Given the description of an element on the screen output the (x, y) to click on. 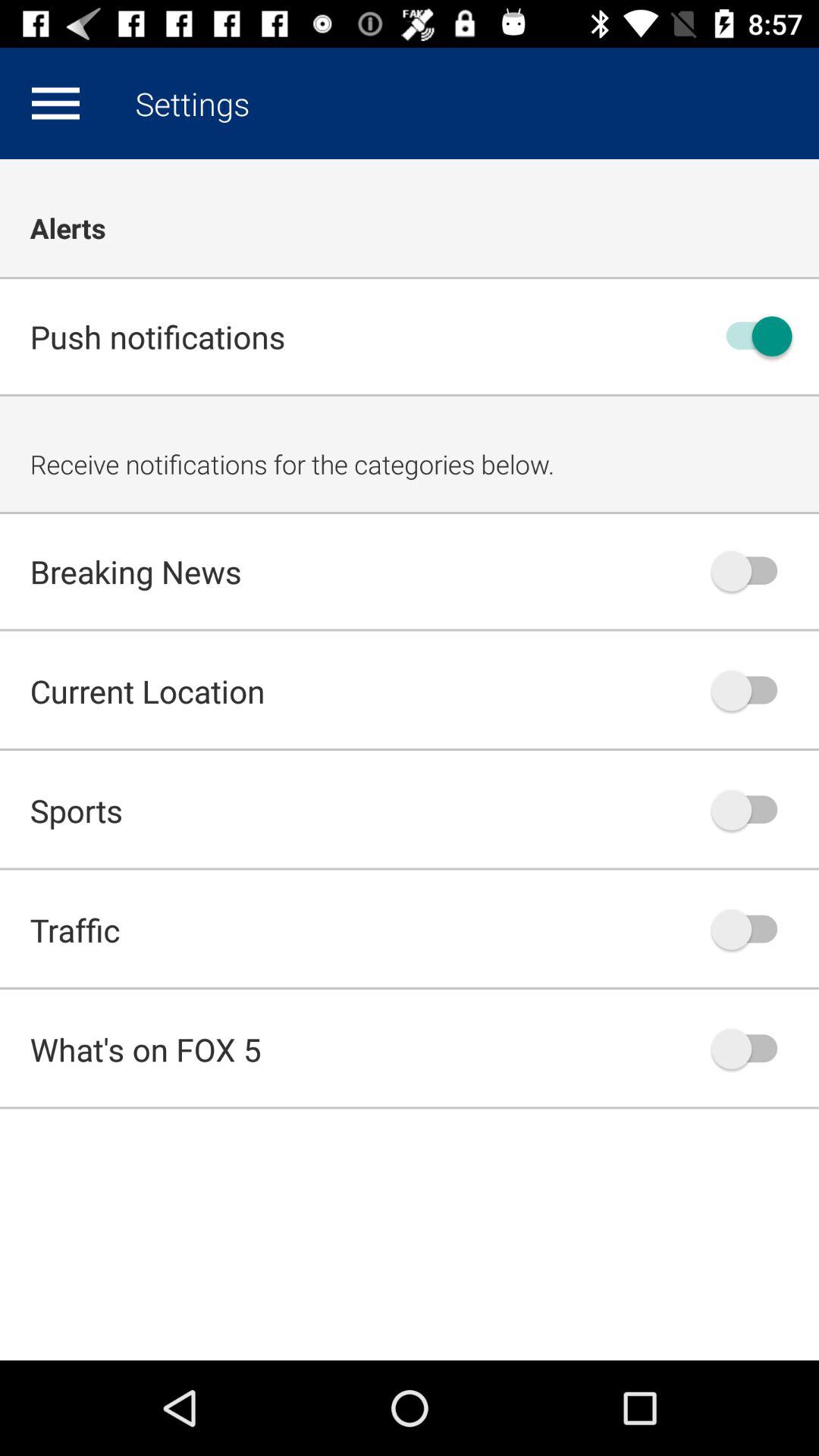
go to settings on the fox 5 app (55, 103)
